Given the description of an element on the screen output the (x, y) to click on. 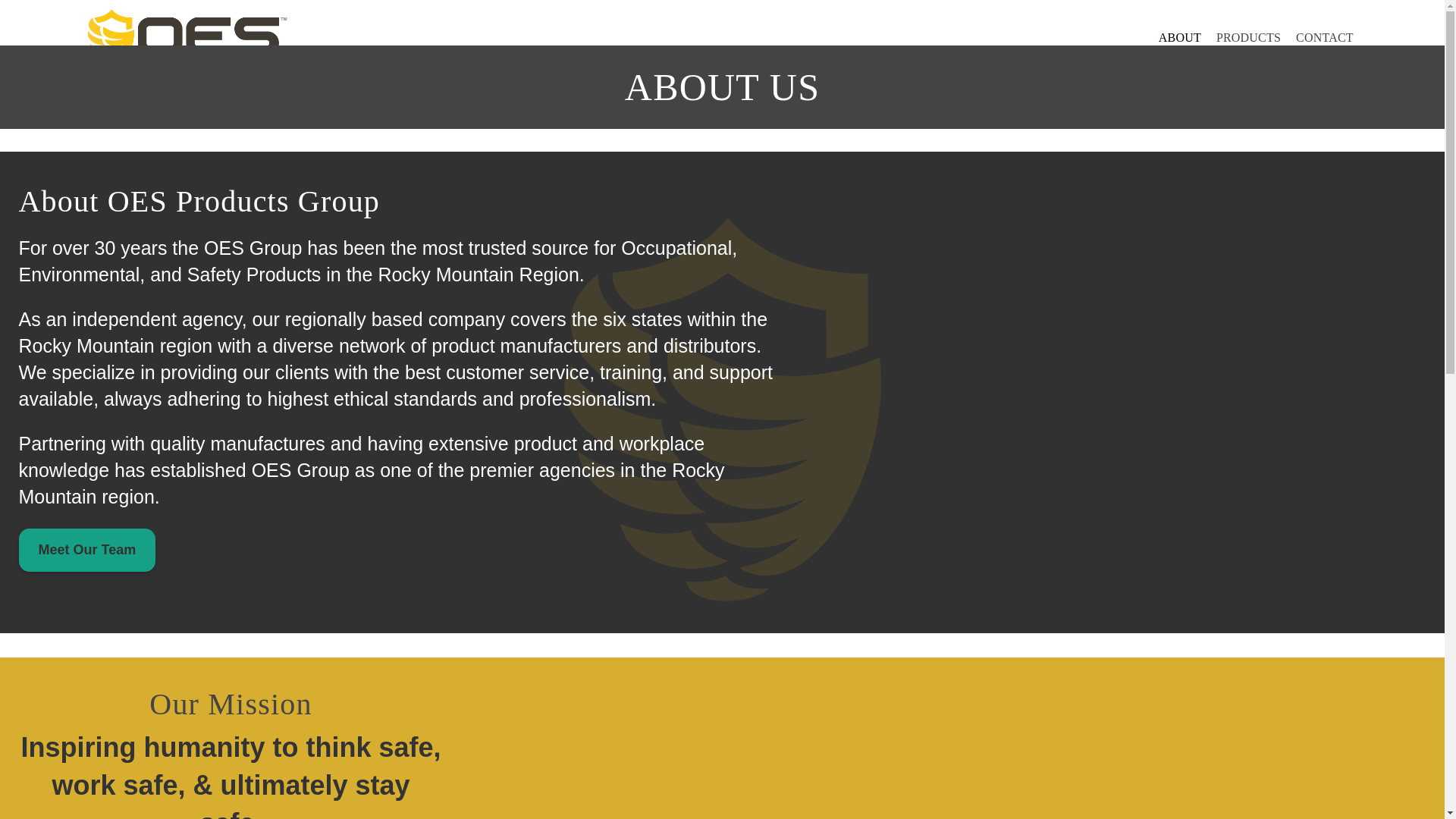
PRODUCTS (1248, 37)
Meet Our Team (86, 549)
ABOUT (1179, 37)
CONTACT (1324, 37)
